Given the description of an element on the screen output the (x, y) to click on. 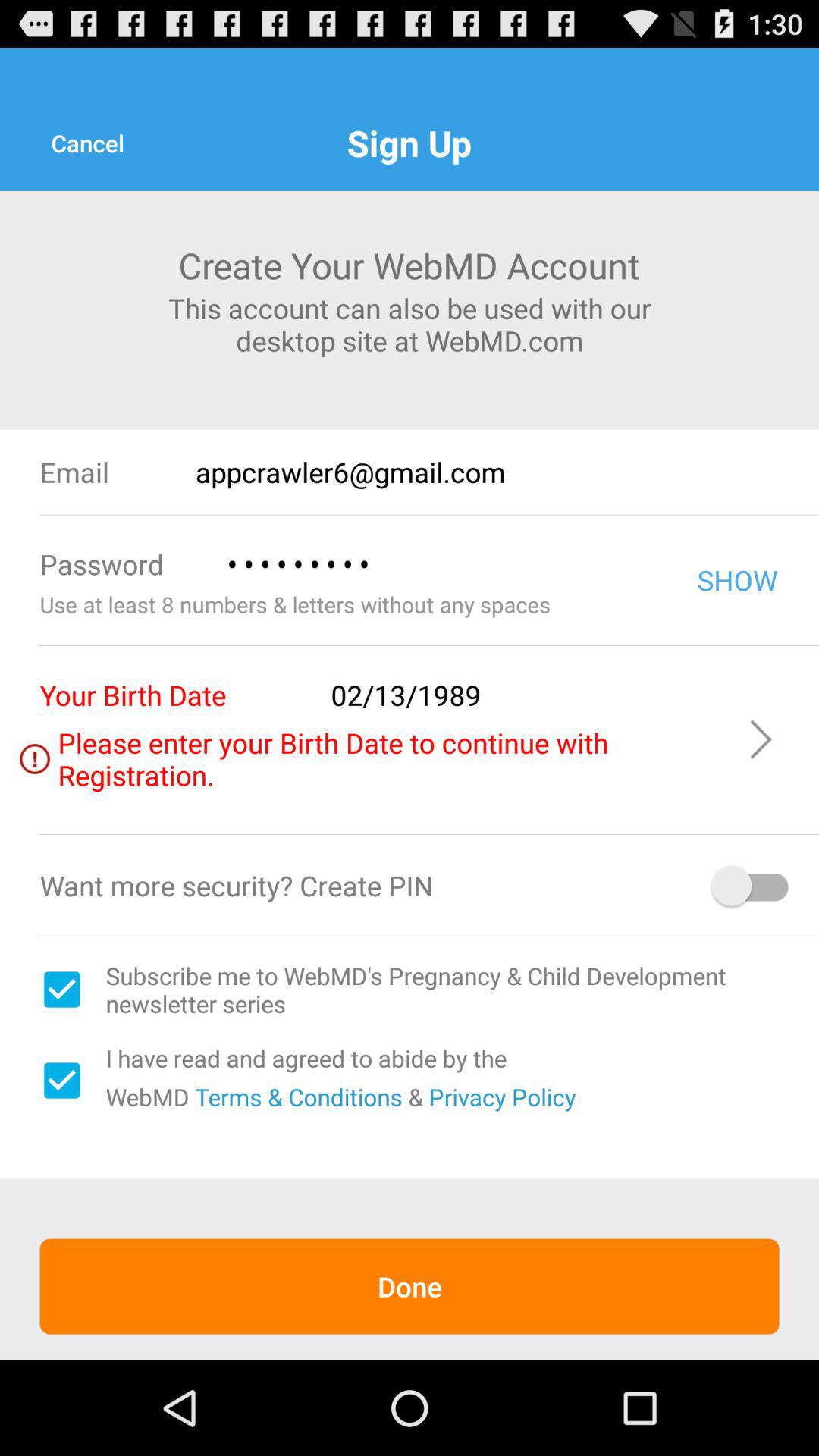
check box to subscribe (61, 989)
